Given the description of an element on the screen output the (x, y) to click on. 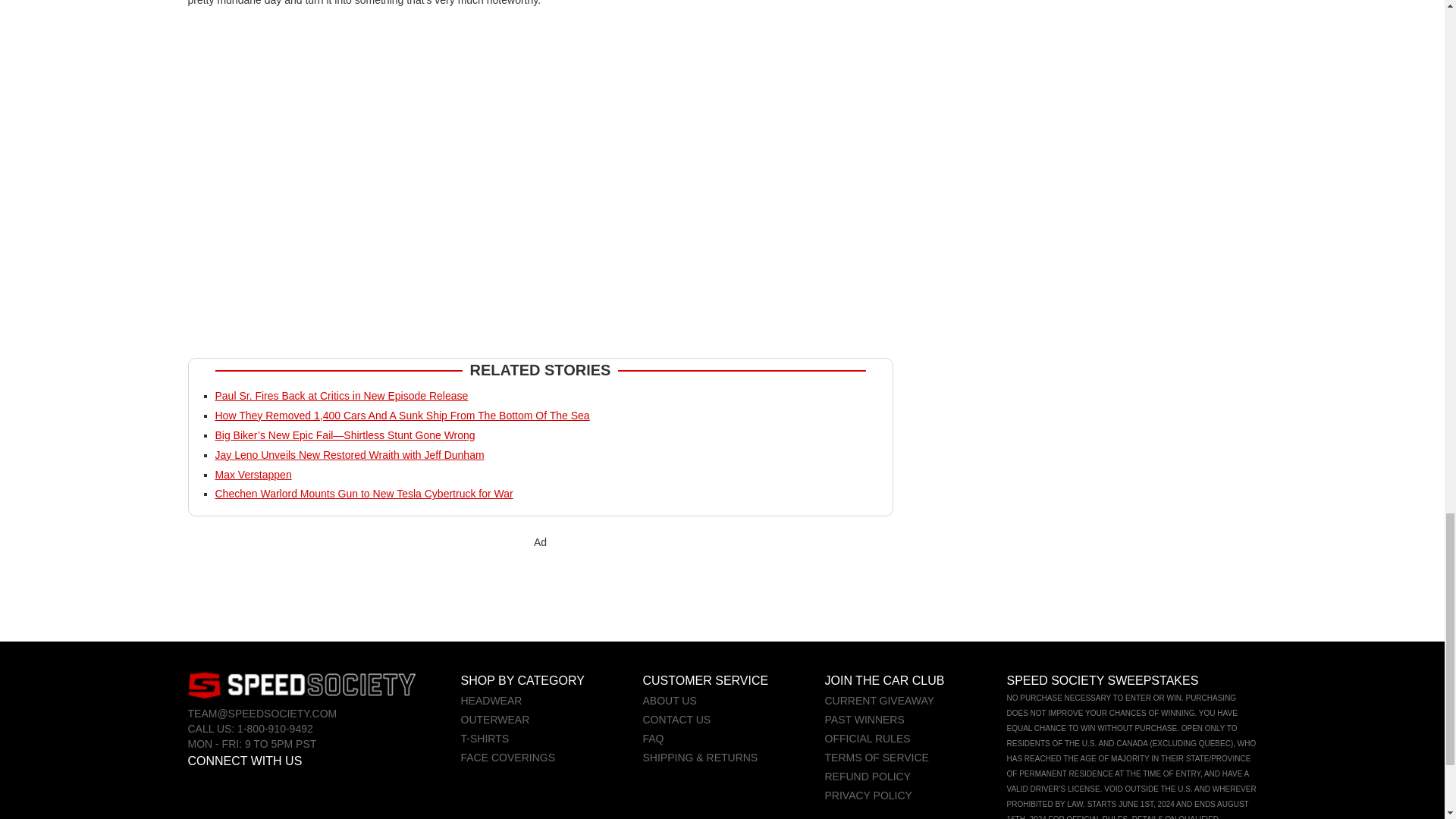
Paul Sr. Fires Back at Critics in New Episode Release (341, 395)
footer logo (300, 684)
